Given the description of an element on the screen output the (x, y) to click on. 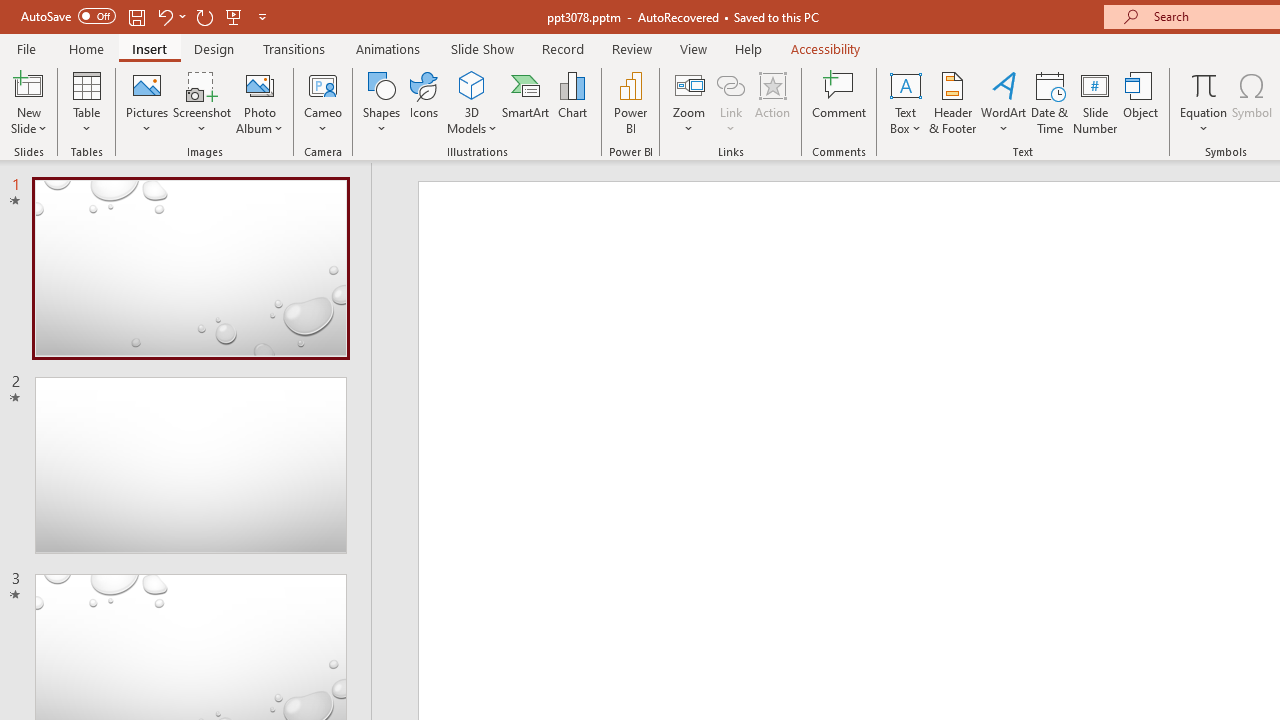
3D Models (472, 102)
Link (731, 102)
Header & Footer... (952, 102)
Equation (1203, 84)
3D Models (472, 84)
Object... (1141, 102)
SmartArt... (525, 102)
Slide Number (1095, 102)
Action (772, 102)
